Given the description of an element on the screen output the (x, y) to click on. 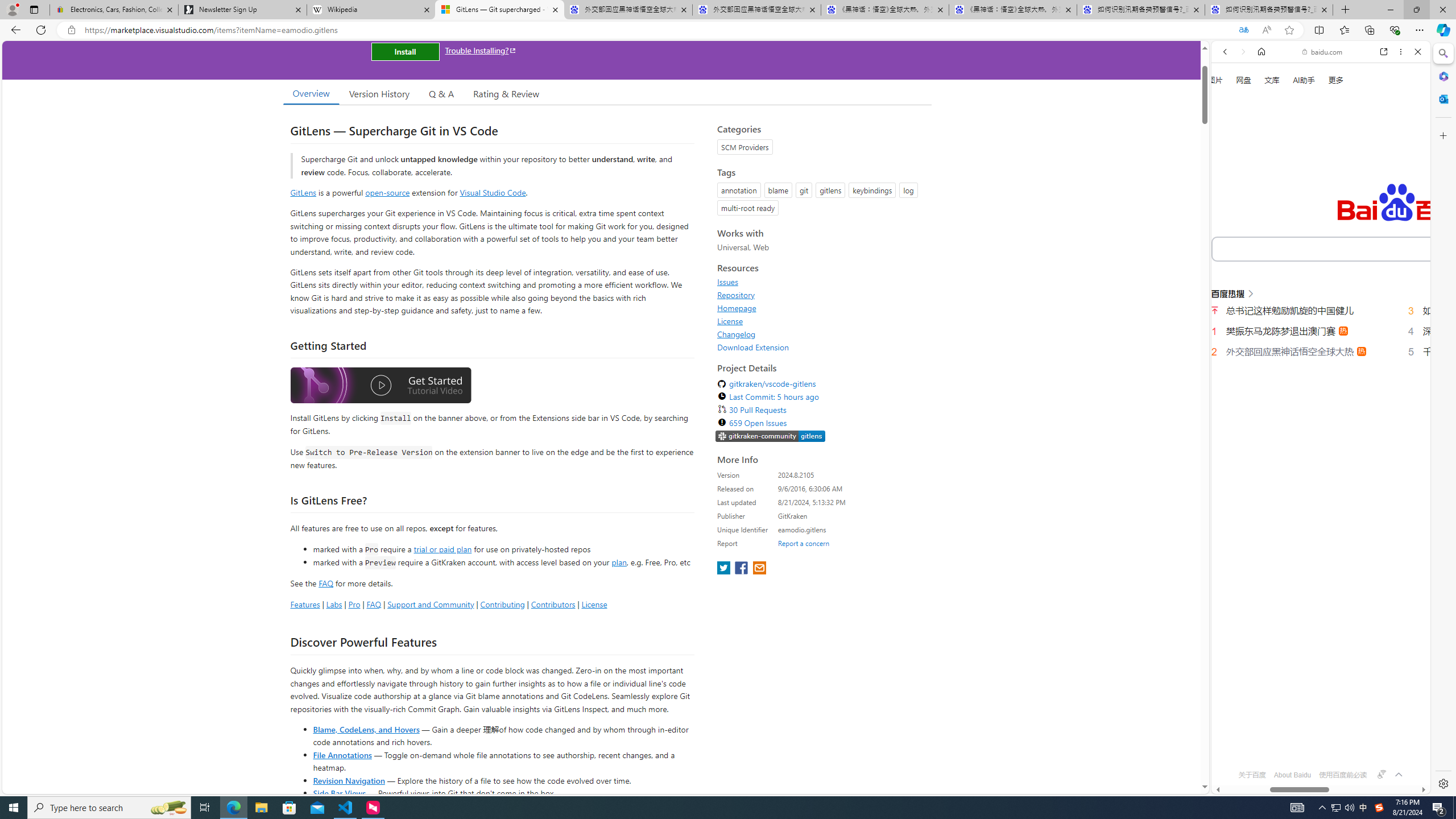
baidu.com (1323, 51)
OFTV (1315, 743)
Pro (354, 603)
SEARCH TOOLS (1350, 192)
Changelog (736, 333)
